Given the description of an element on the screen output the (x, y) to click on. 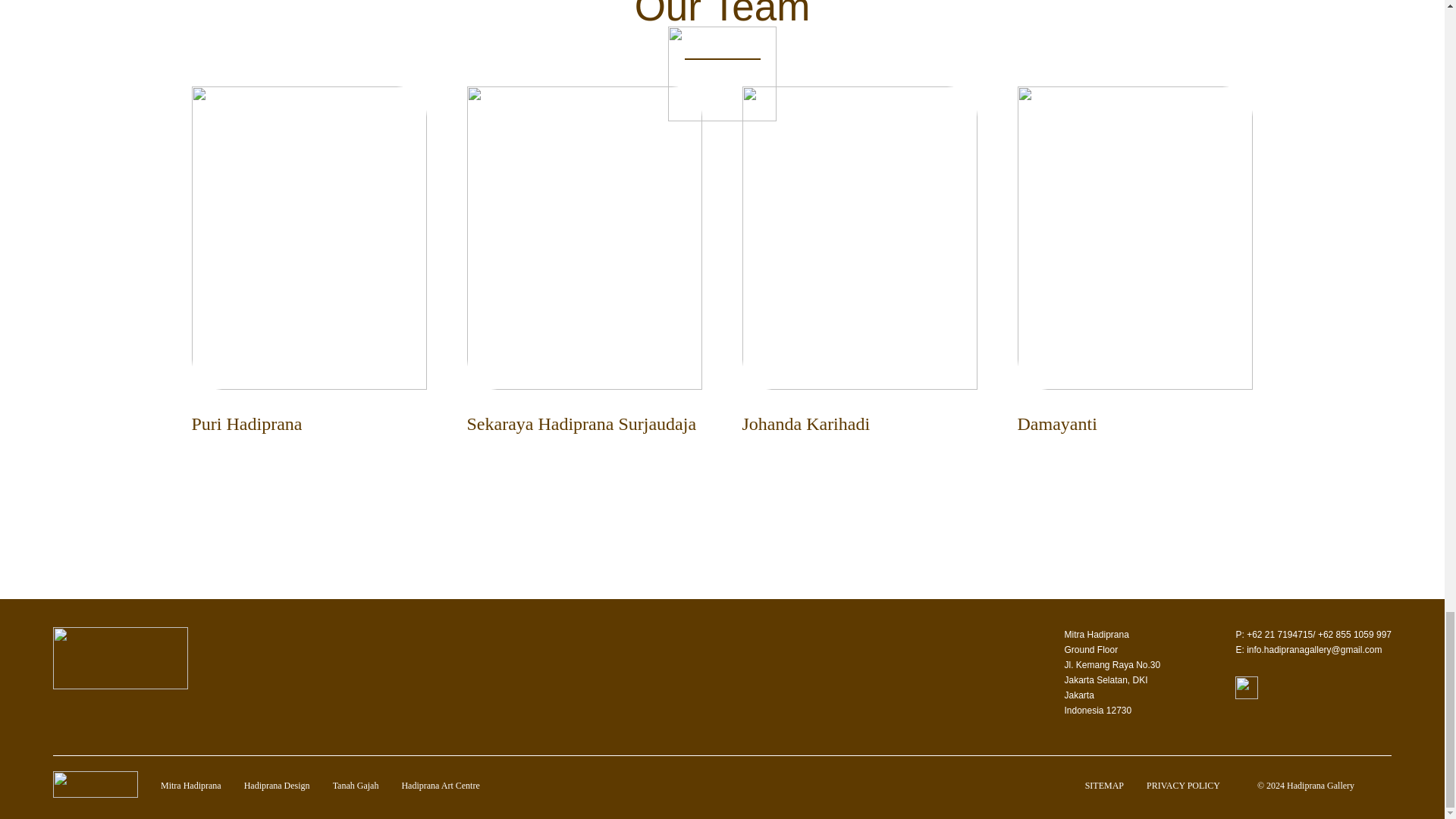
Hadiprana Art Centre (440, 785)
Hadiprana Design (277, 785)
Mitra Hadiprana (190, 785)
SITEMAP (1104, 785)
Tanah Gajah (355, 785)
PRIVACY POLICY (1183, 785)
